Given the description of an element on the screen output the (x, y) to click on. 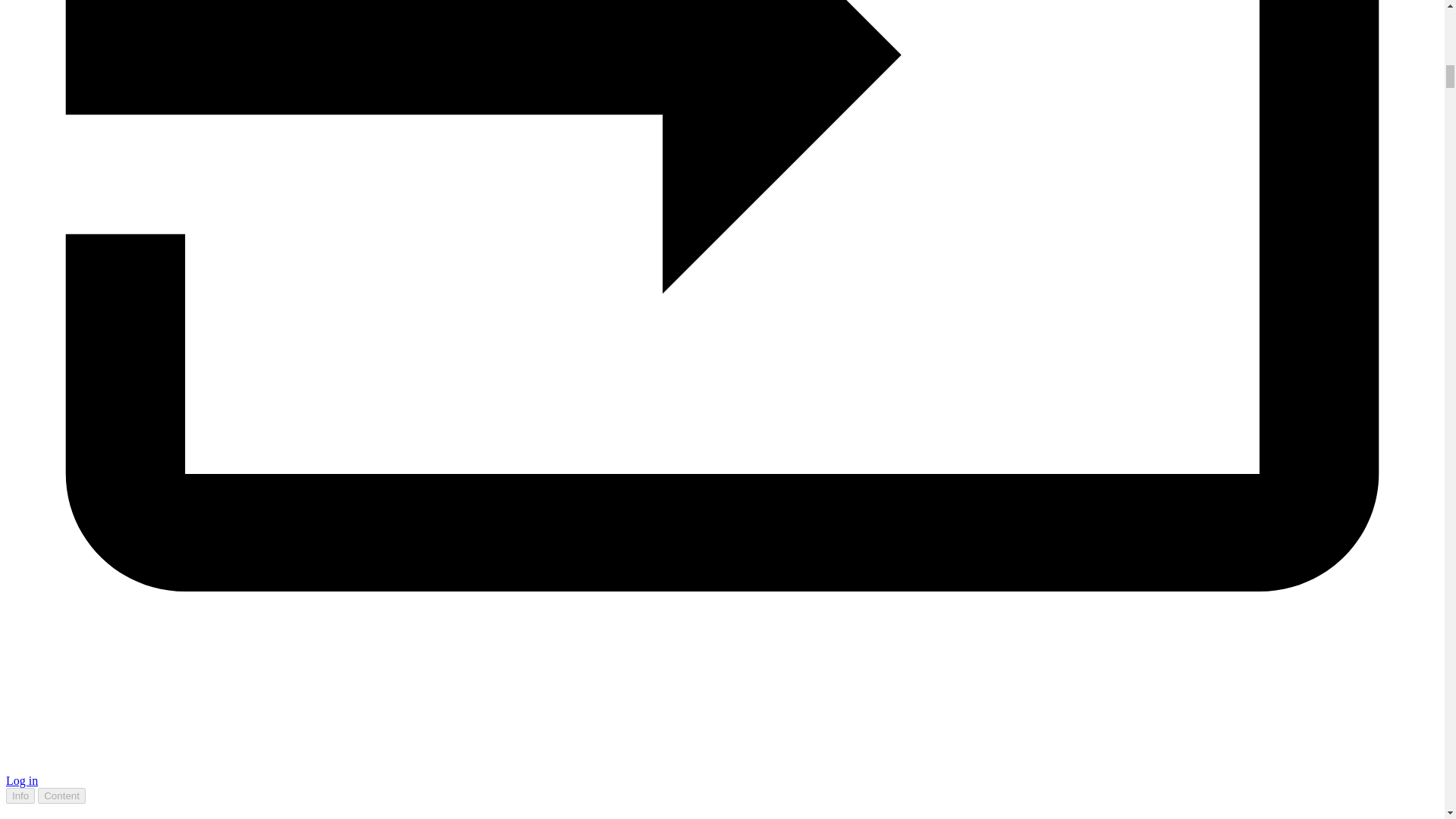
Info (19, 795)
Content (61, 795)
